Given the description of an element on the screen output the (x, y) to click on. 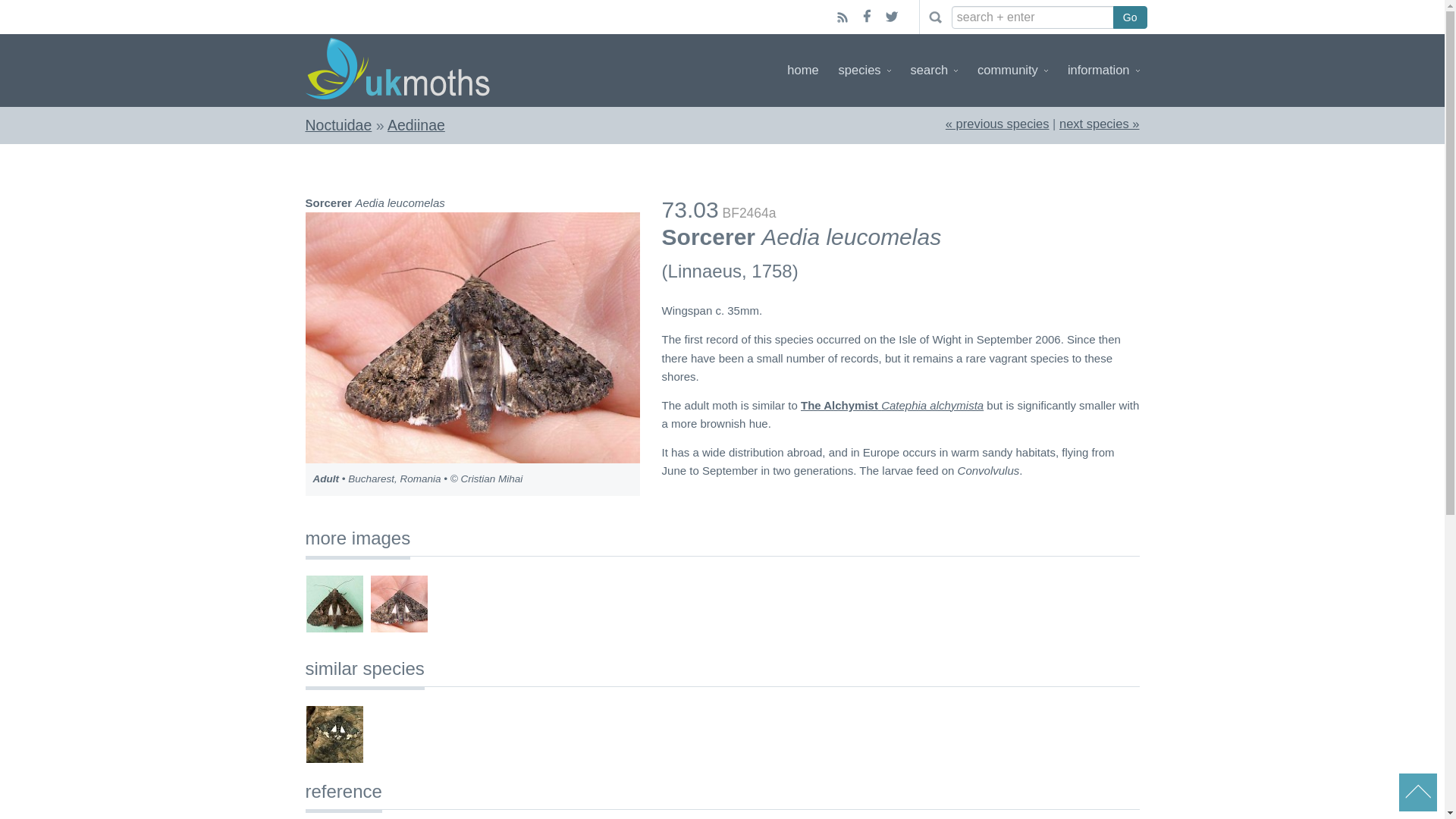
species (864, 70)
Follow UKMoths on Twitter (891, 16)
Sorcerer (1098, 123)
72.085 The Alchymist Catephia alchymista (333, 734)
Sorcerer Aedia leucomelas (472, 337)
Noctuidae (337, 125)
The Alchymist Catephia alchymista (892, 404)
community (1012, 70)
search (934, 70)
Aediinae (416, 125)
Follow UKMoths on Facebook (867, 16)
Go (1130, 16)
information (1103, 70)
Sorcerer (996, 123)
Latest additions RSS feed (841, 16)
